Given the description of an element on the screen output the (x, y) to click on. 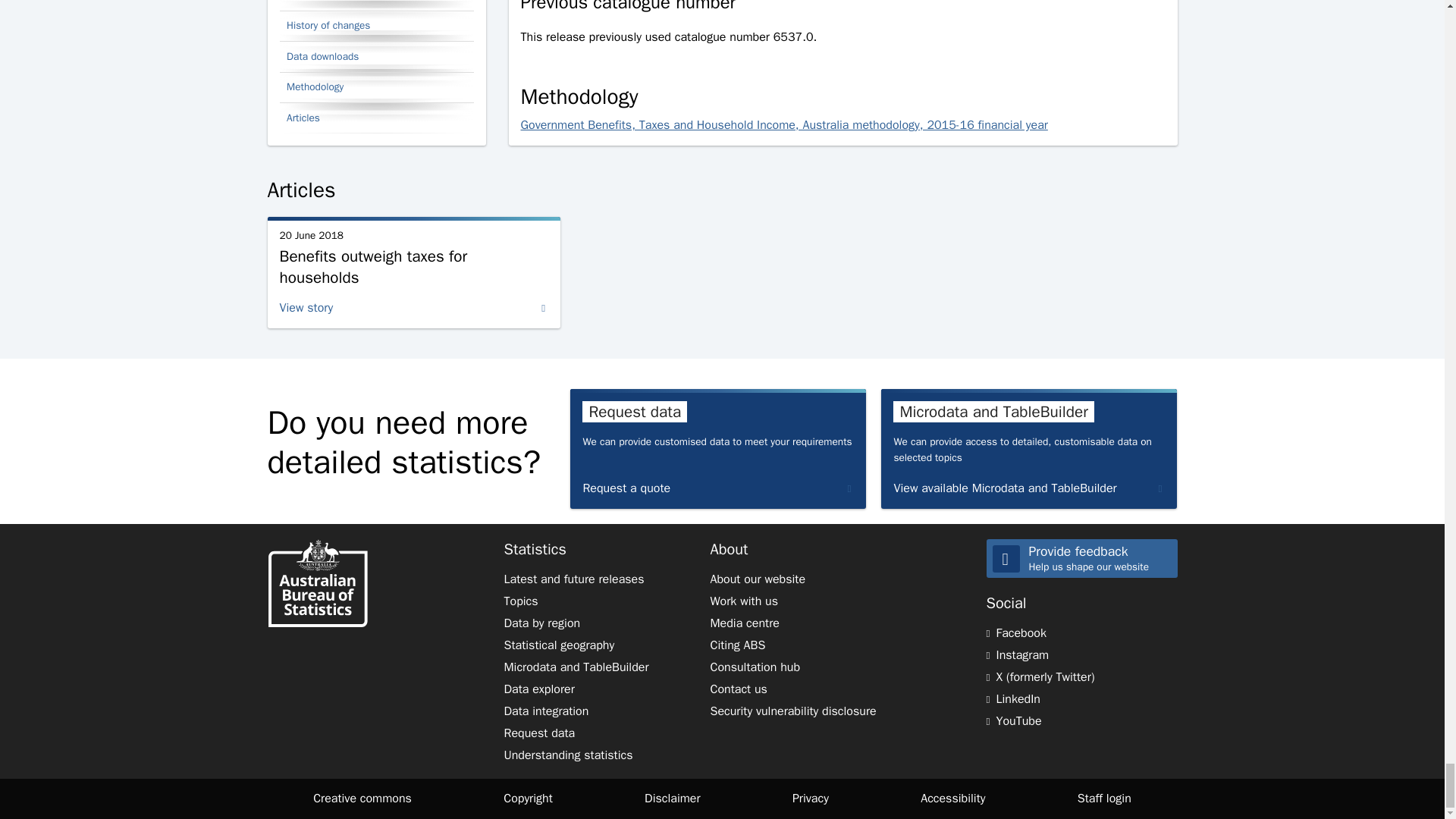
Microdata and TableBuilder (575, 667)
Home (316, 584)
Topics (520, 601)
Data by region (541, 622)
Statistical geography (558, 645)
Latest and future releases (573, 579)
Home (316, 582)
